Given the description of an element on the screen output the (x, y) to click on. 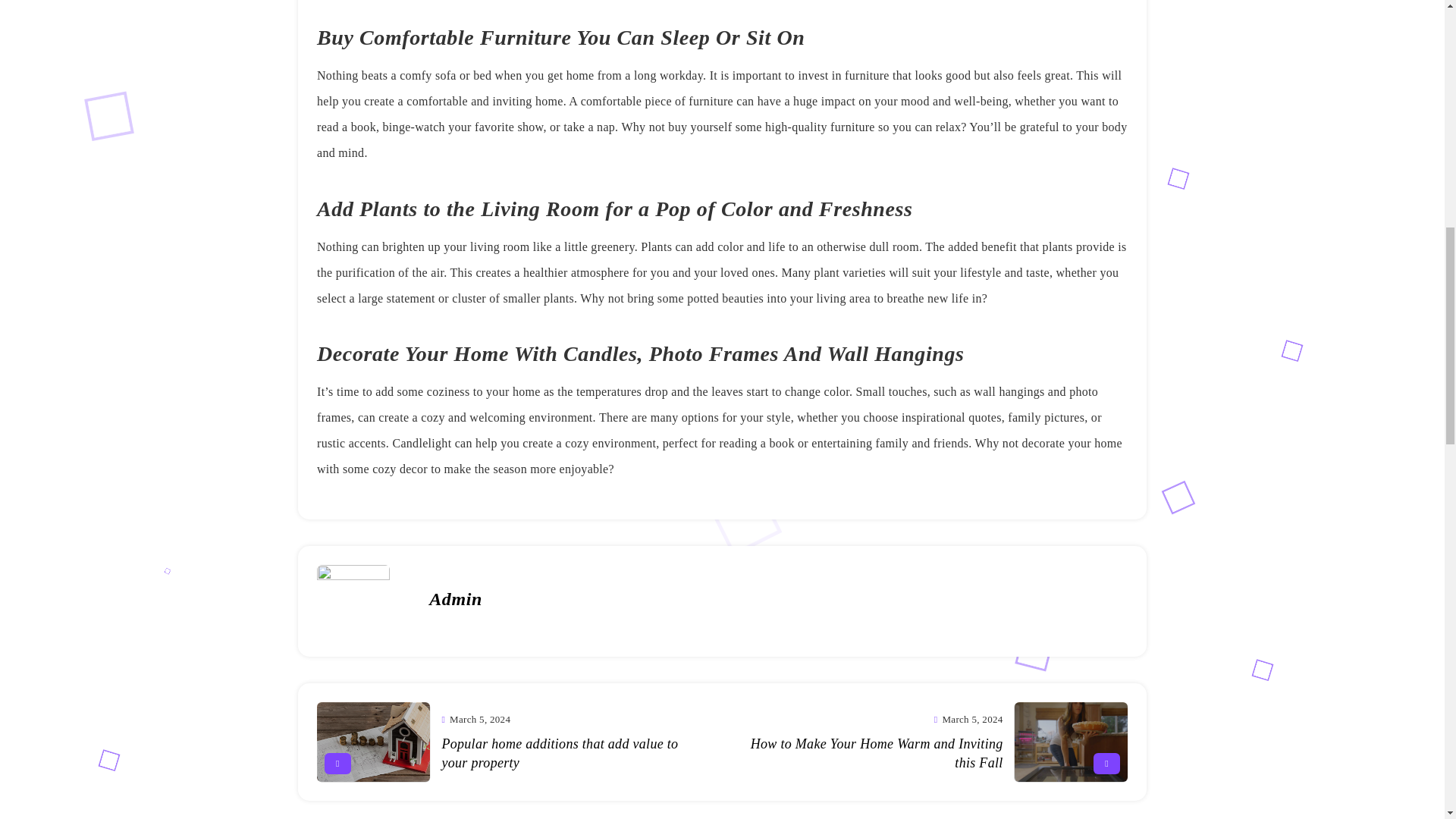
Admin (455, 598)
